Given the description of an element on the screen output the (x, y) to click on. 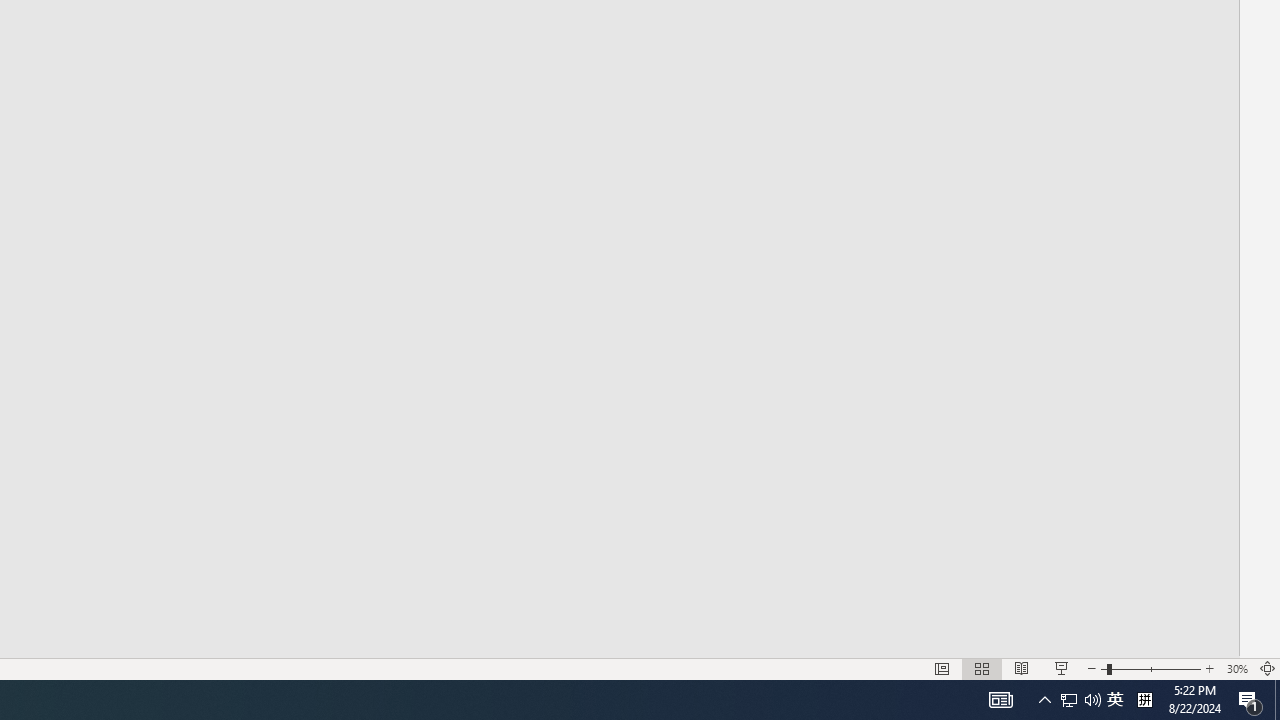
Zoom 30% (1236, 668)
